Given the description of an element on the screen output the (x, y) to click on. 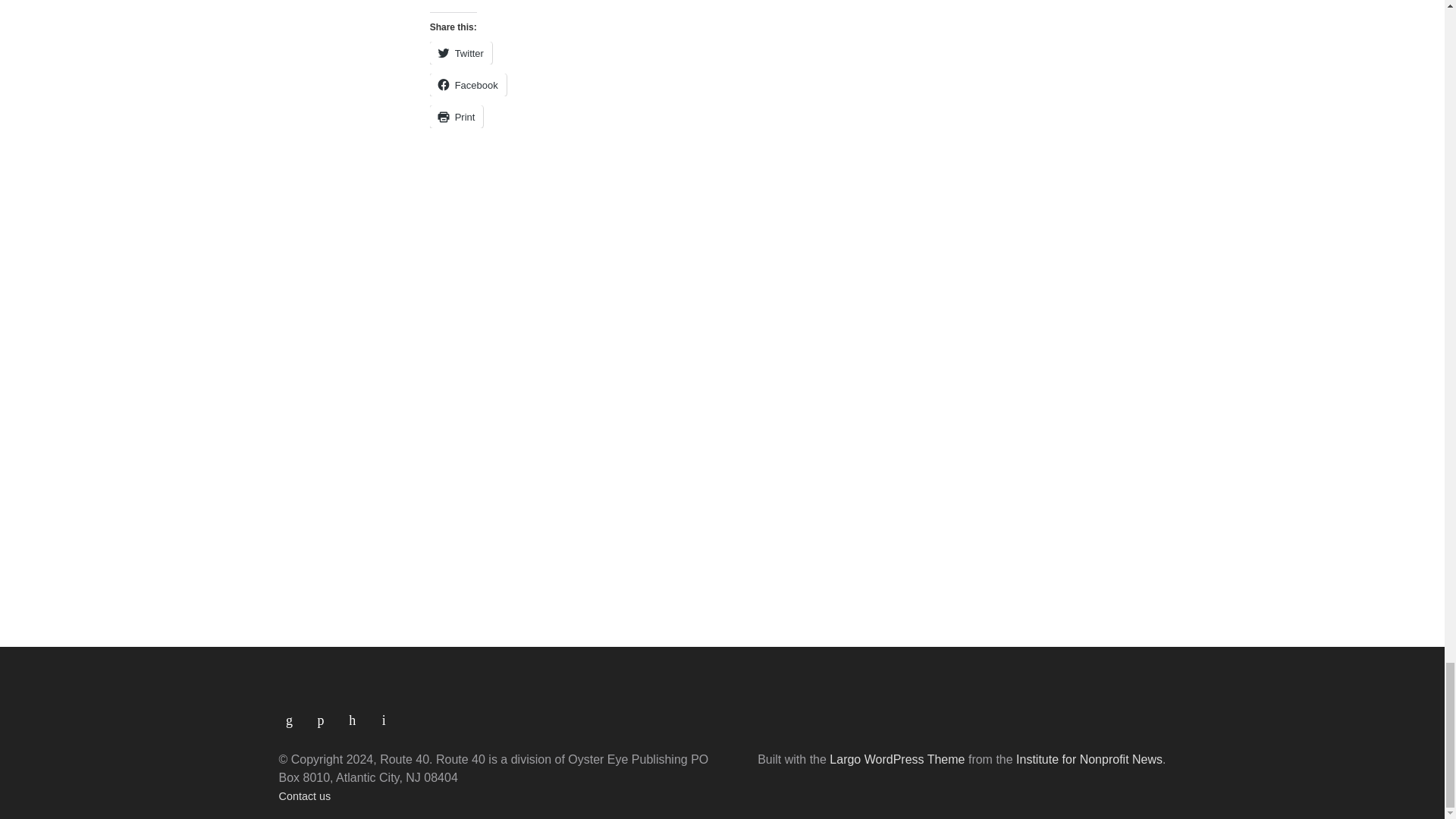
Click to share on Facebook (467, 84)
Link to RSS Feed (295, 714)
Click to share on Twitter (460, 52)
Click to print (456, 116)
Link to Facebook Profile (326, 714)
